Given the description of an element on the screen output the (x, y) to click on. 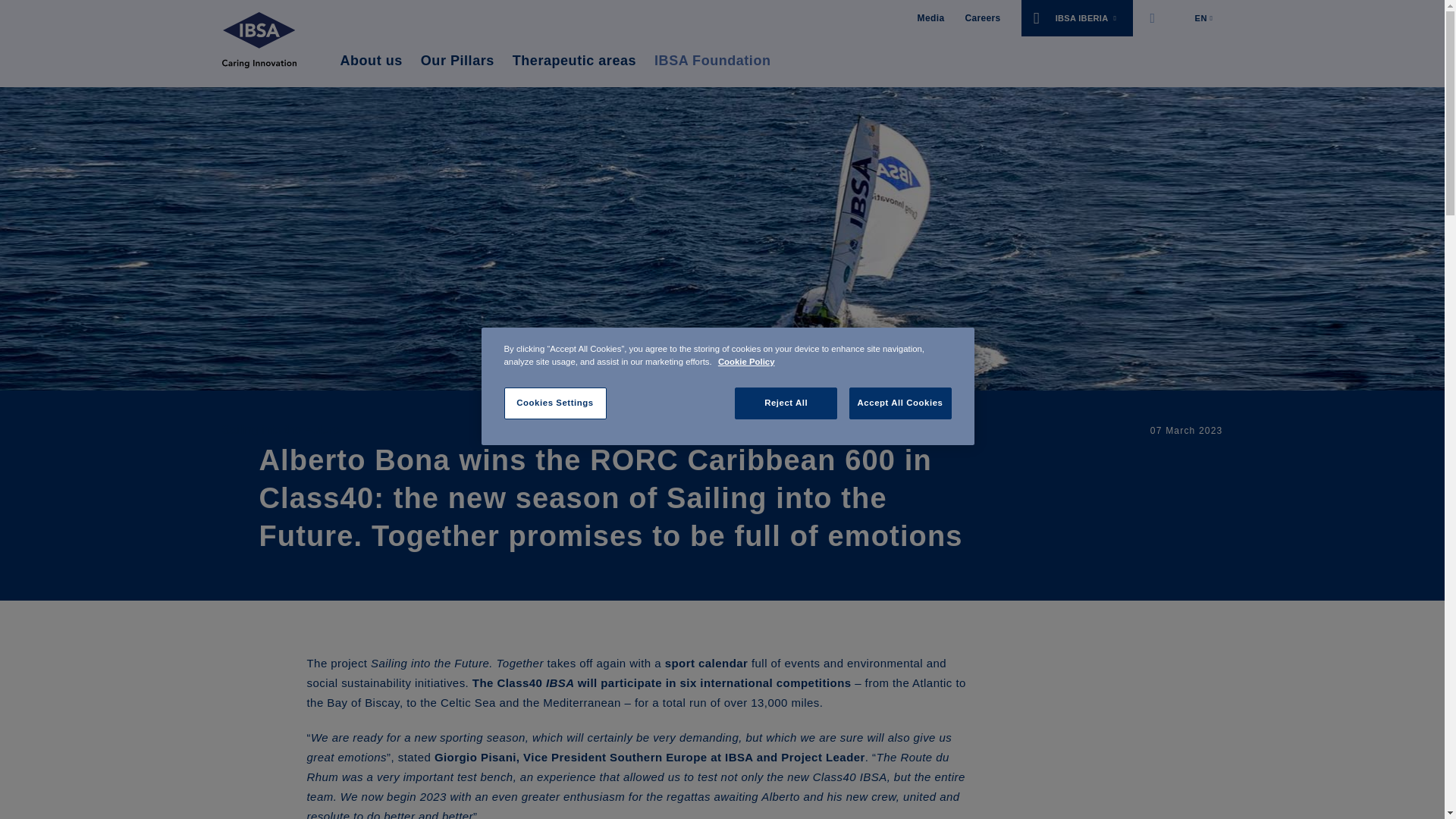
Therapeutic areas (574, 60)
Our Pillars (457, 60)
Media (930, 18)
About us (370, 60)
Careers (981, 18)
IBSA IBERIA (1077, 18)
